Given the description of an element on the screen output the (x, y) to click on. 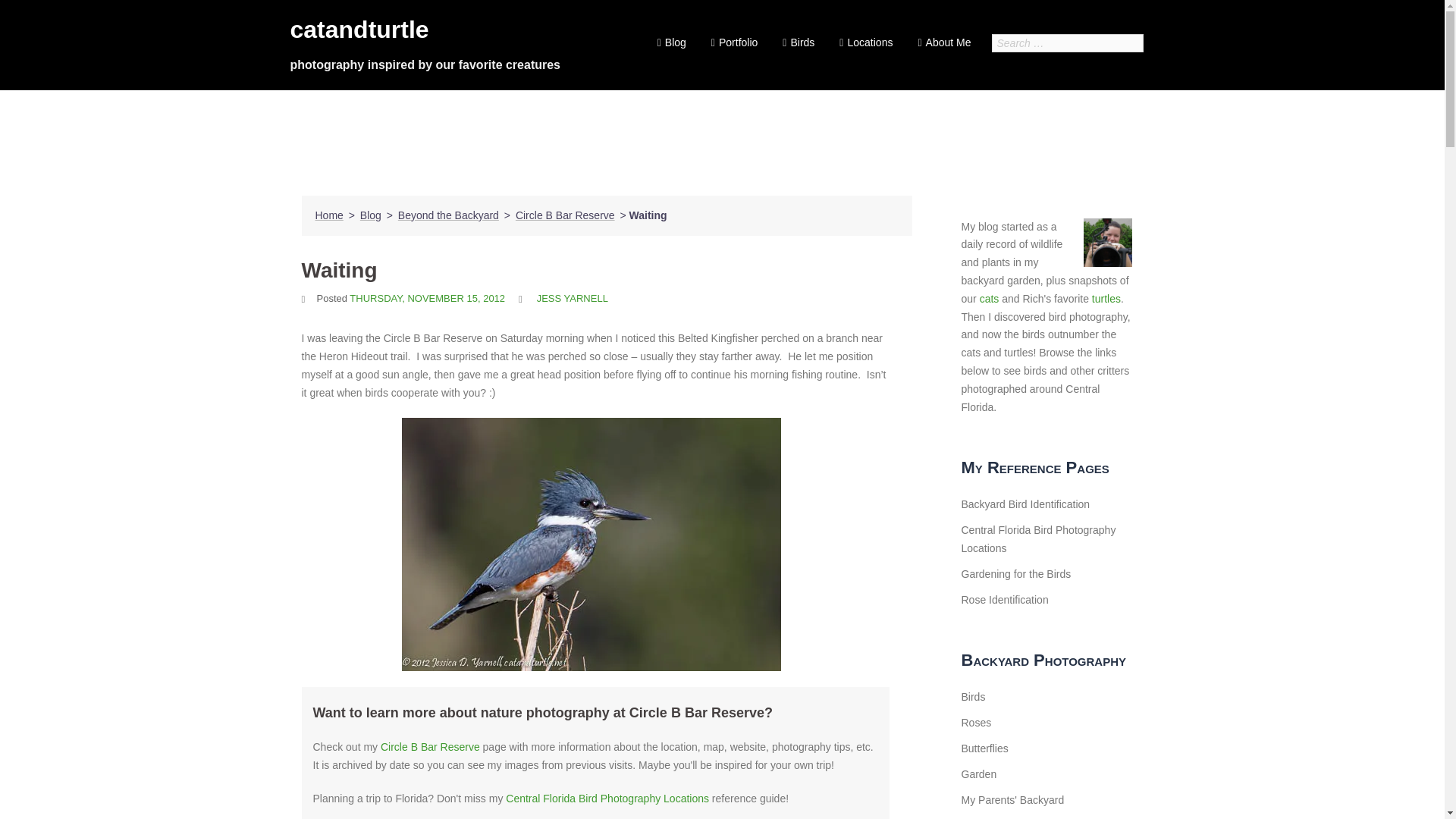
Search (47, 18)
Birds (795, 43)
Circle B Bar Reserve (430, 746)
About Me (942, 43)
JESS YARNELL (572, 297)
Locations (863, 43)
cats (988, 298)
THURSDAY, NOVEMBER 15, 2012 (427, 297)
Central Florida Bird Photography Locations (607, 798)
Blog (370, 215)
catandturtle (358, 29)
Beyond the Backyard (448, 215)
Circle B Bar Reserve (564, 215)
Portfolio (732, 43)
Home (329, 215)
